Given the description of an element on the screen output the (x, y) to click on. 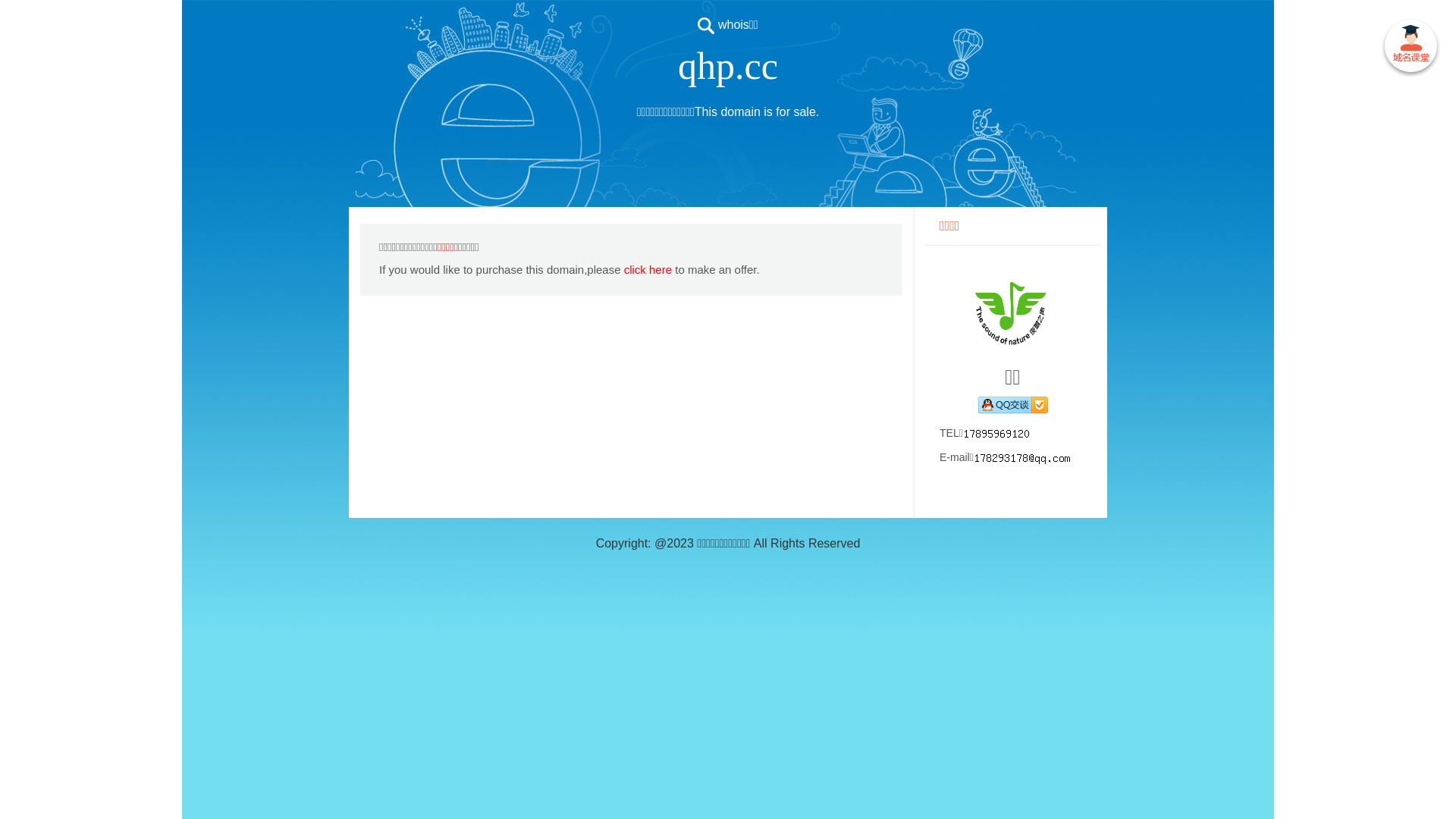
click here Element type: text (647, 269)
  Element type: text (1410, 48)
